Given the description of an element on the screen output the (x, y) to click on. 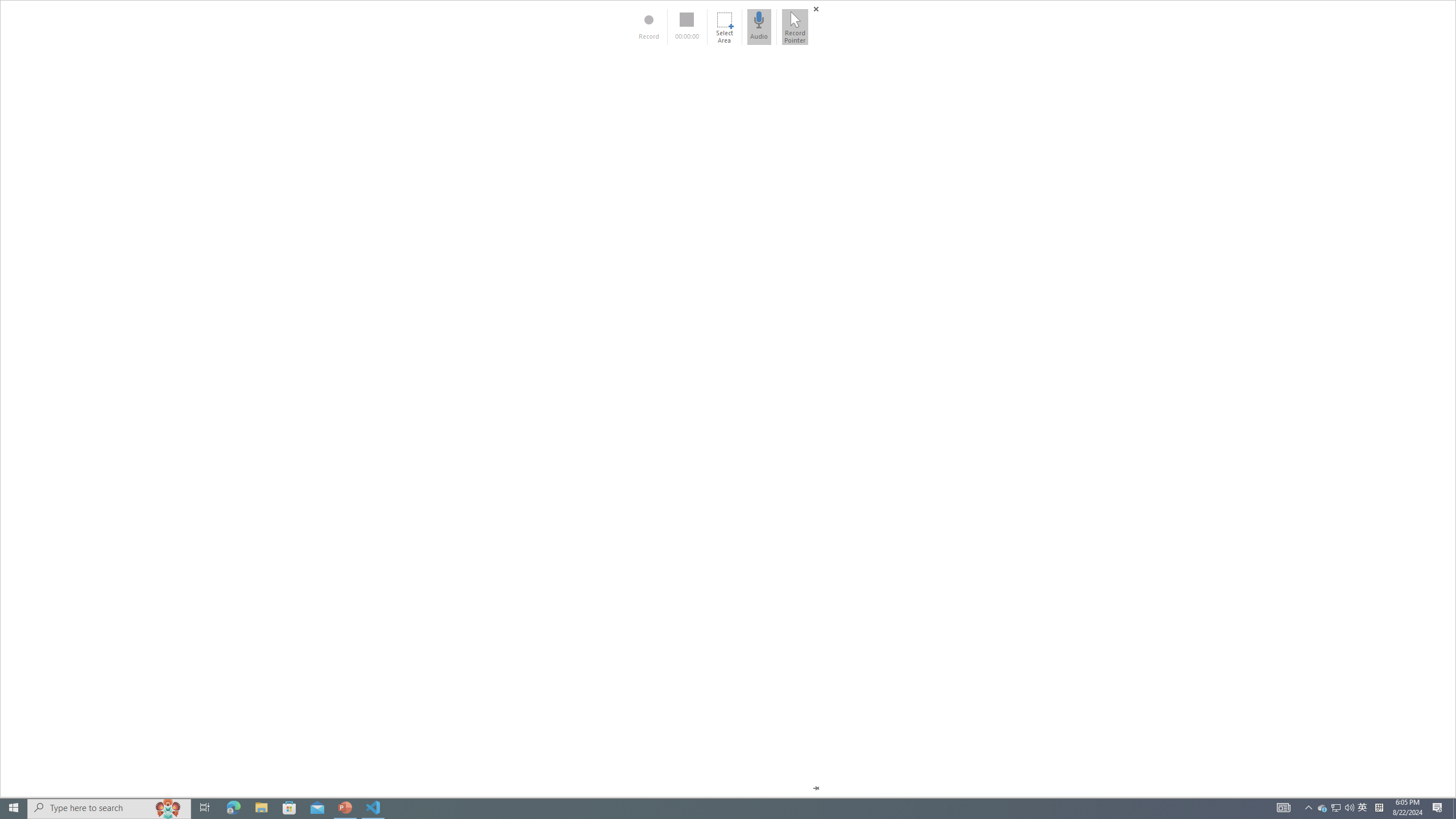
MiniBar (728, 398)
Record Pointer (794, 27)
Pin the Dock (Windows logo key+Shift+I) (815, 788)
Select Area (723, 27)
00:00:00 (686, 27)
Close (Windows logo key+Shift+Q) (815, 8)
